Given the description of an element on the screen output the (x, y) to click on. 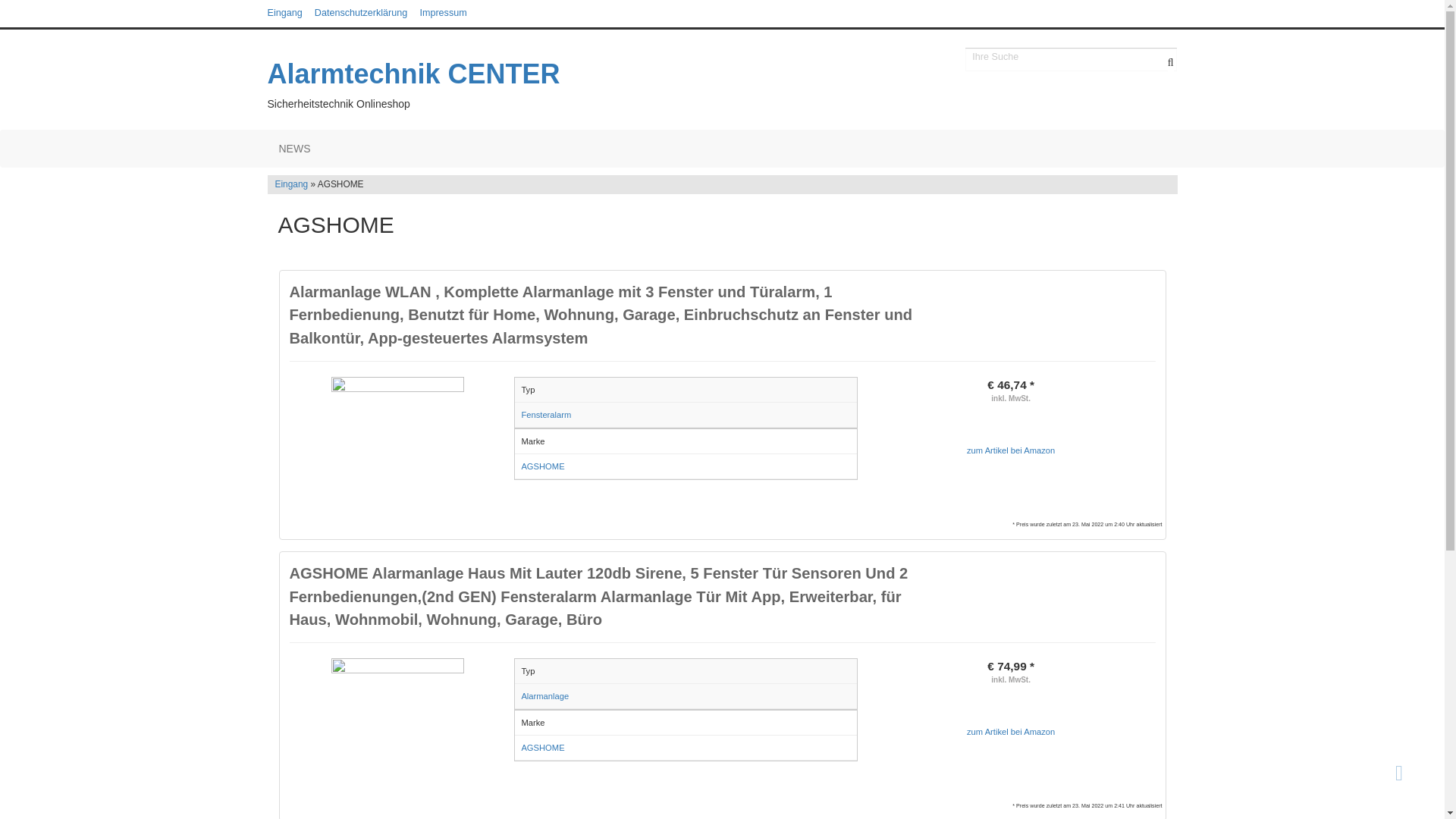
AGSHOME Element type: text (542, 465)
AGSHOME Element type: text (542, 747)
Impressum Element type: text (442, 12)
Fensteralarm Element type: text (545, 414)
Alarmtechnik CENTER Element type: text (456, 74)
NEWS Element type: text (293, 148)
zum Artikel bei Amazon Element type: text (1010, 450)
zum Artikel bei Amazon Element type: text (1010, 731)
Eingang Element type: text (290, 183)
Alarmanlage Element type: text (544, 695)
Eingang Element type: text (283, 12)
